Given the description of an element on the screen output the (x, y) to click on. 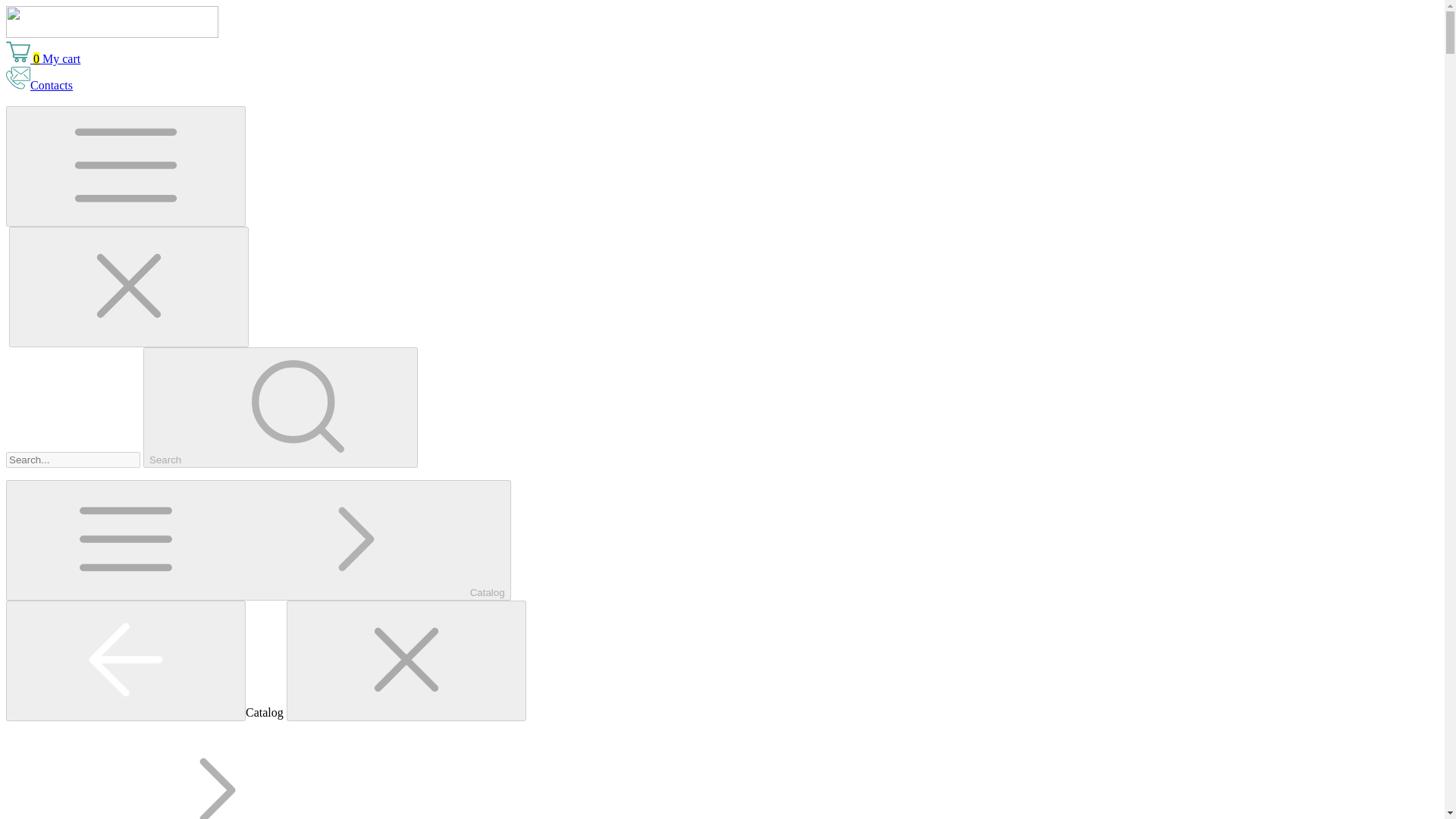
Contacts (38, 84)
0 My cart (42, 58)
Search (279, 407)
Catalog (258, 539)
